Given the description of an element on the screen output the (x, y) to click on. 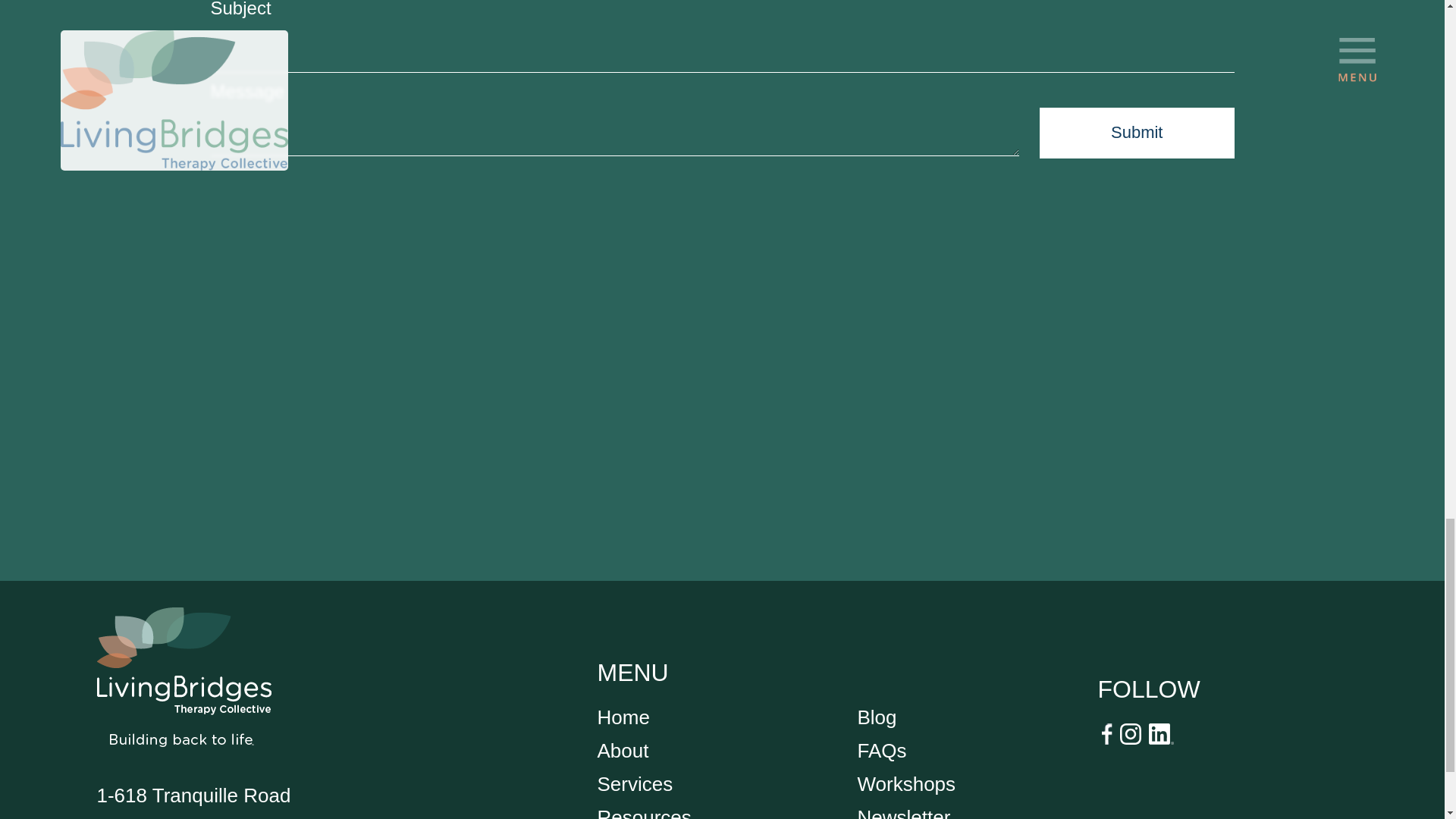
Home (622, 716)
Resources (643, 812)
Services (634, 784)
Blog (876, 716)
Submit (1136, 132)
Workshops (906, 784)
About (622, 750)
Submit (1136, 132)
Newsletter (903, 812)
FAQs (881, 750)
